Given the description of an element on the screen output the (x, y) to click on. 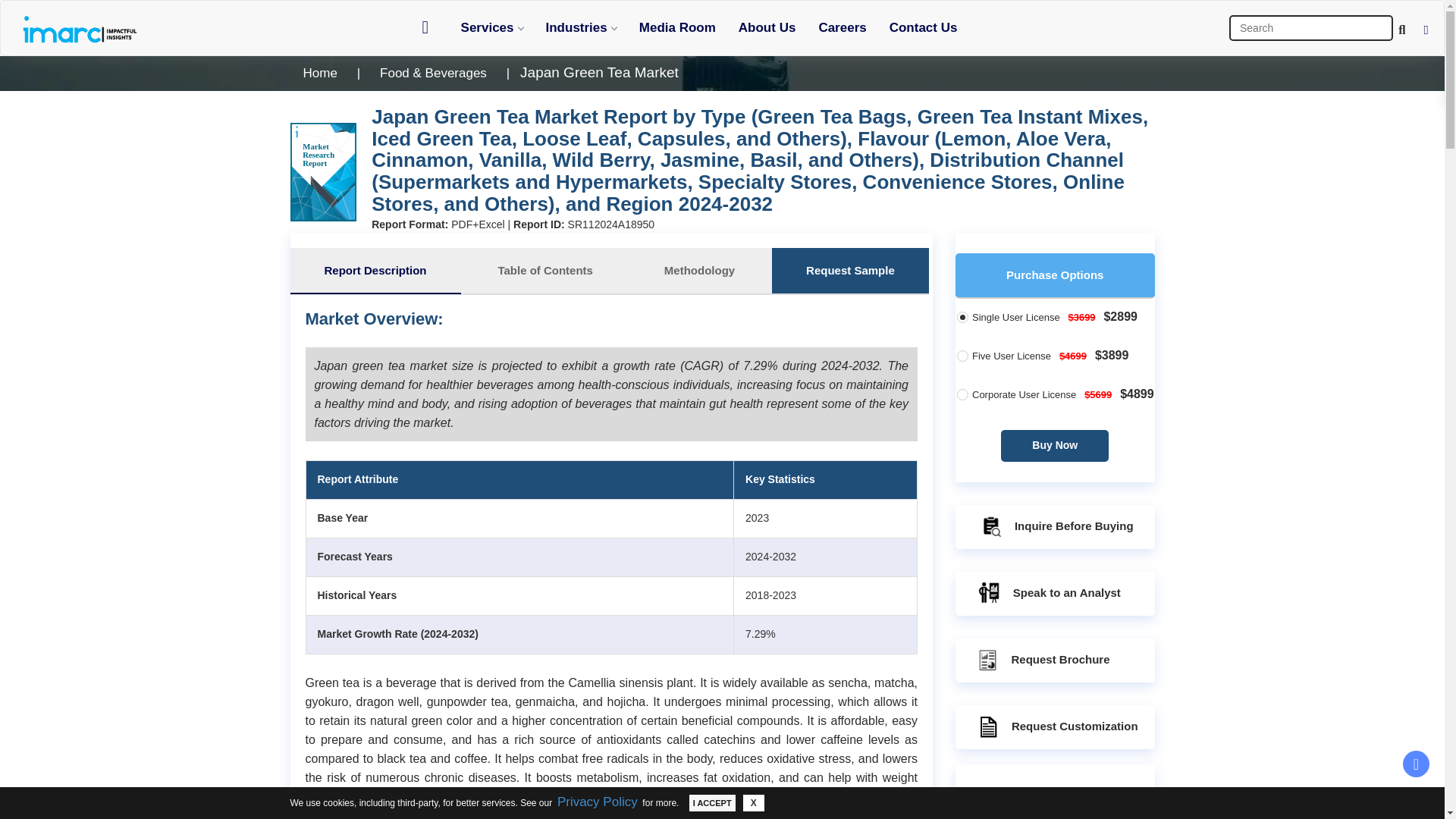
Contact Us (923, 27)
Services (491, 27)
Industries (580, 27)
Media Room (676, 27)
About Us (767, 27)
Careers (841, 27)
